Given the description of an element on the screen output the (x, y) to click on. 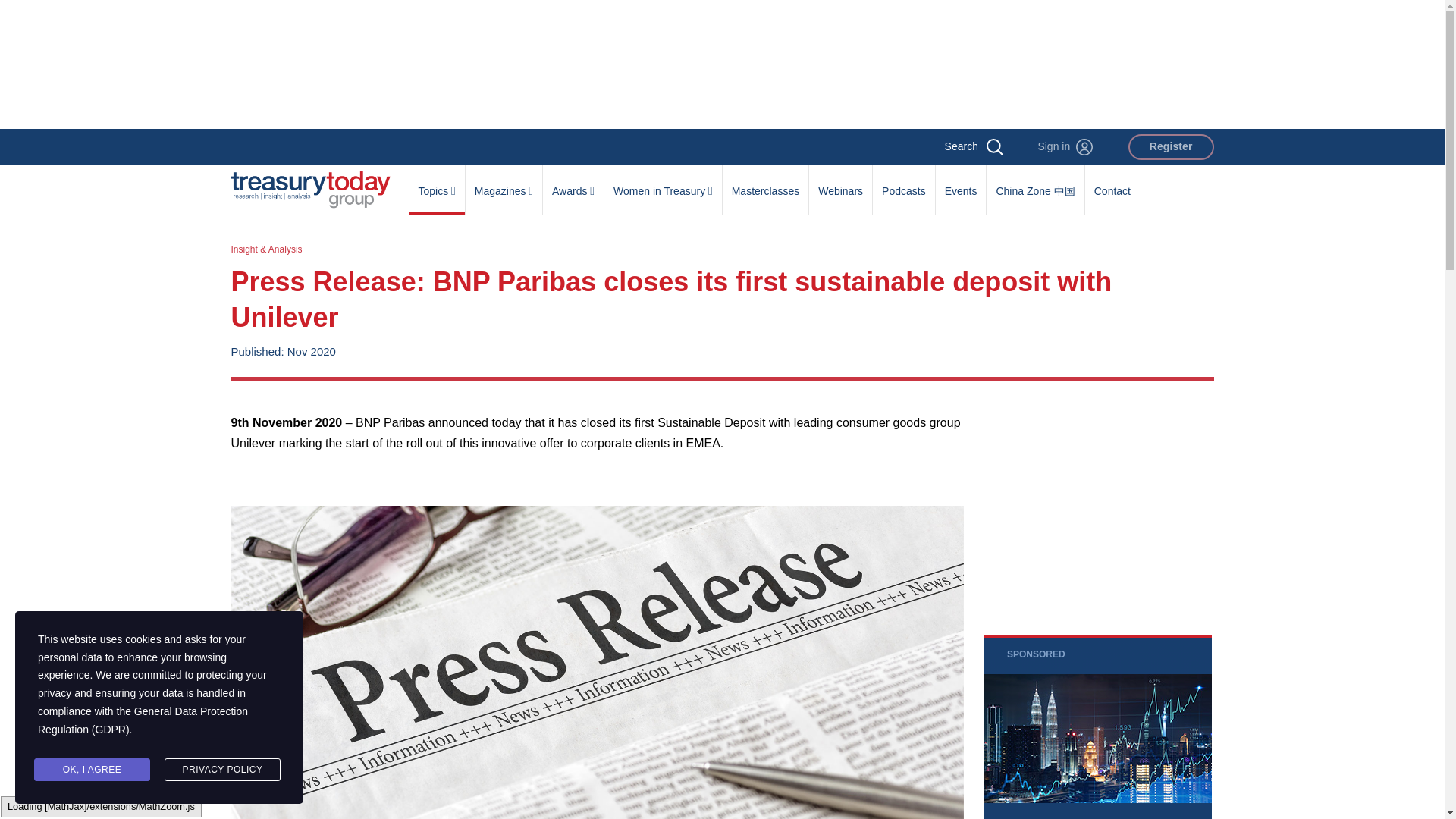
Awards  (573, 182)
Sign in (1064, 146)
Topics  (436, 182)
Women in Treasury  (663, 182)
3rd party ad content (1097, 726)
Masterclasses (765, 182)
3rd party ad content (1097, 506)
3rd party ad content (721, 63)
Webinars (840, 182)
Register (1171, 146)
Magazines  (503, 182)
